Given the description of an element on the screen output the (x, y) to click on. 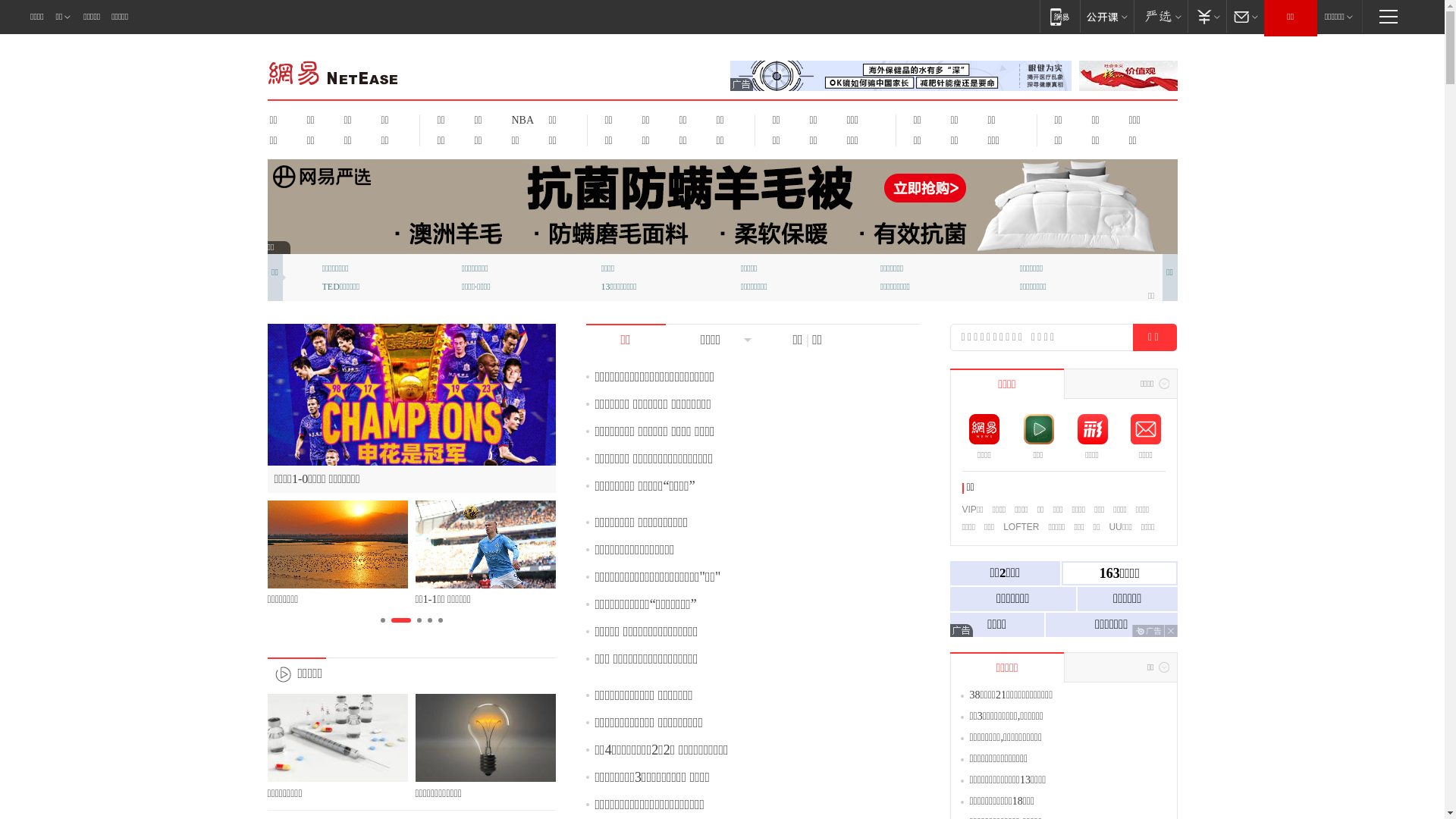
NBA Element type: text (520, 119)
LOFTER Element type: text (1020, 526)
